Given the description of an element on the screen output the (x, y) to click on. 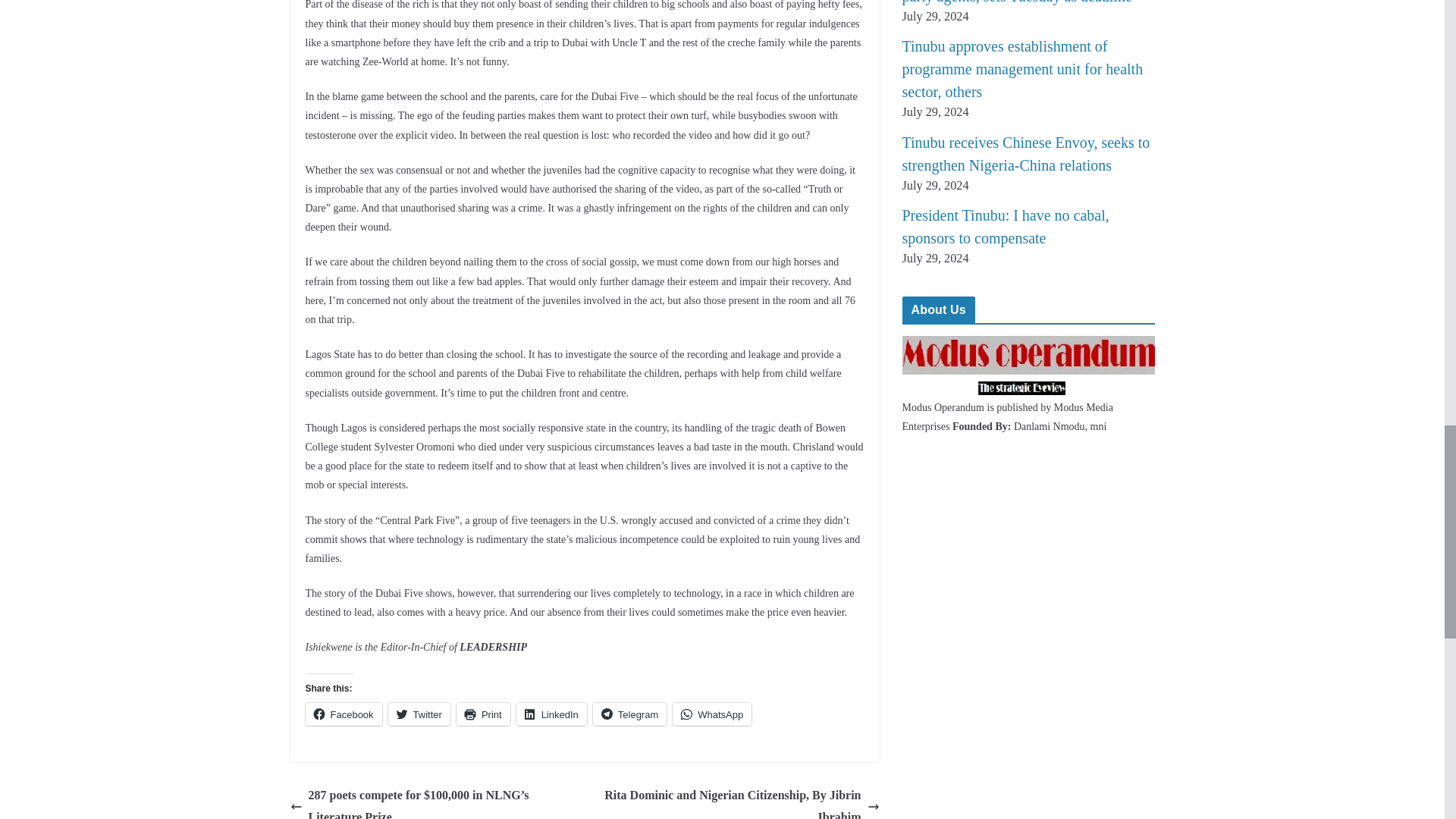
Twitter (418, 713)
Click to share on Twitter (418, 713)
Click to print (484, 713)
Facebook (342, 713)
Click to share on WhatsApp (711, 713)
LinkedIn (551, 713)
Rita Dominic and Nigerian Citizenship, By Jibrin Ibrahim (735, 801)
Click to share on LinkedIn (551, 713)
Click to share on Telegram (629, 713)
Telegram (629, 713)
